Given the description of an element on the screen output the (x, y) to click on. 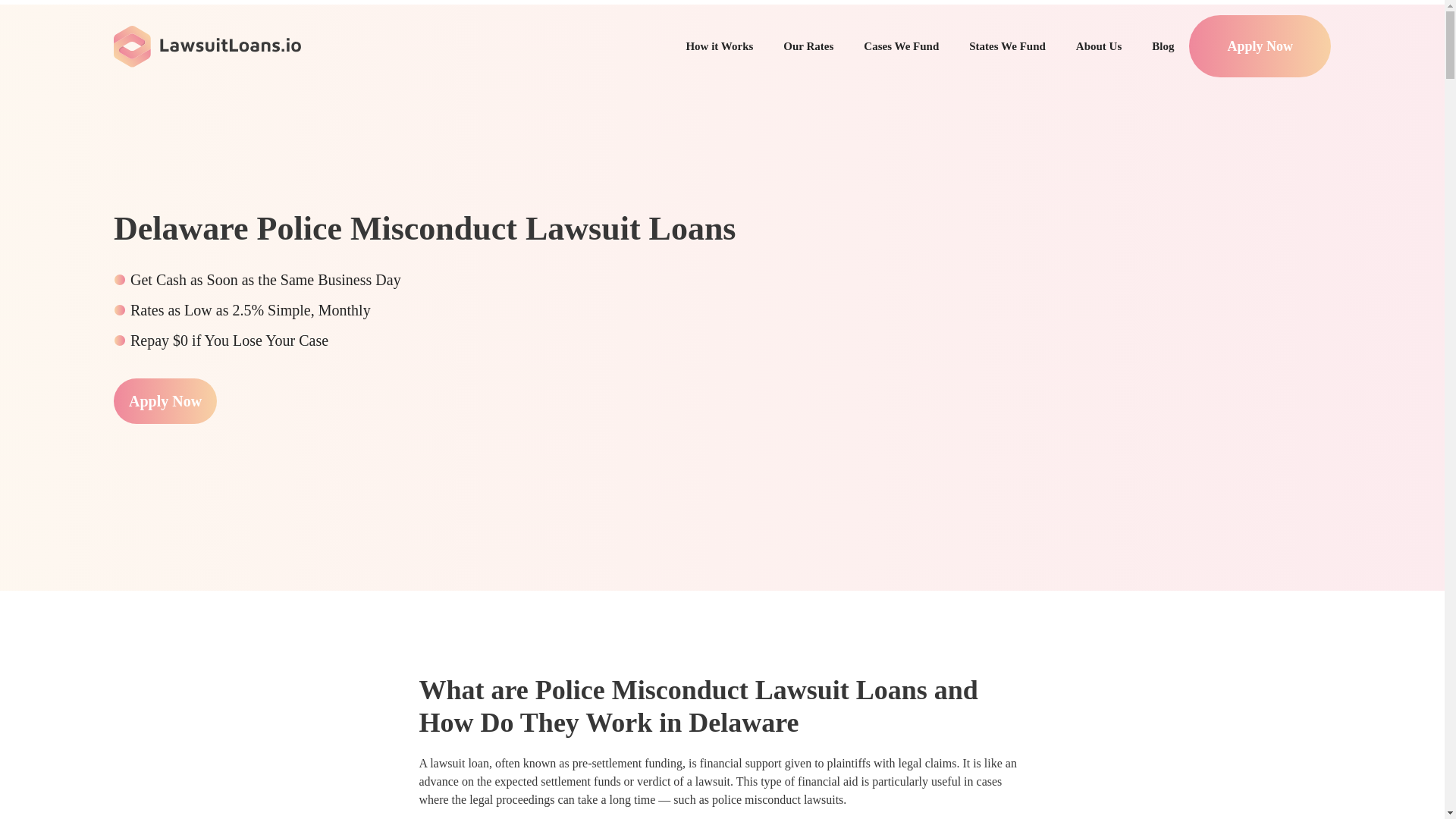
Apply Now (1259, 45)
Blog (1163, 45)
How it Works (718, 45)
Apply Now (164, 401)
Our Rates (808, 45)
Cases We Fund (900, 45)
States We Fund (1007, 45)
About Us (1099, 45)
